Given the description of an element on the screen output the (x, y) to click on. 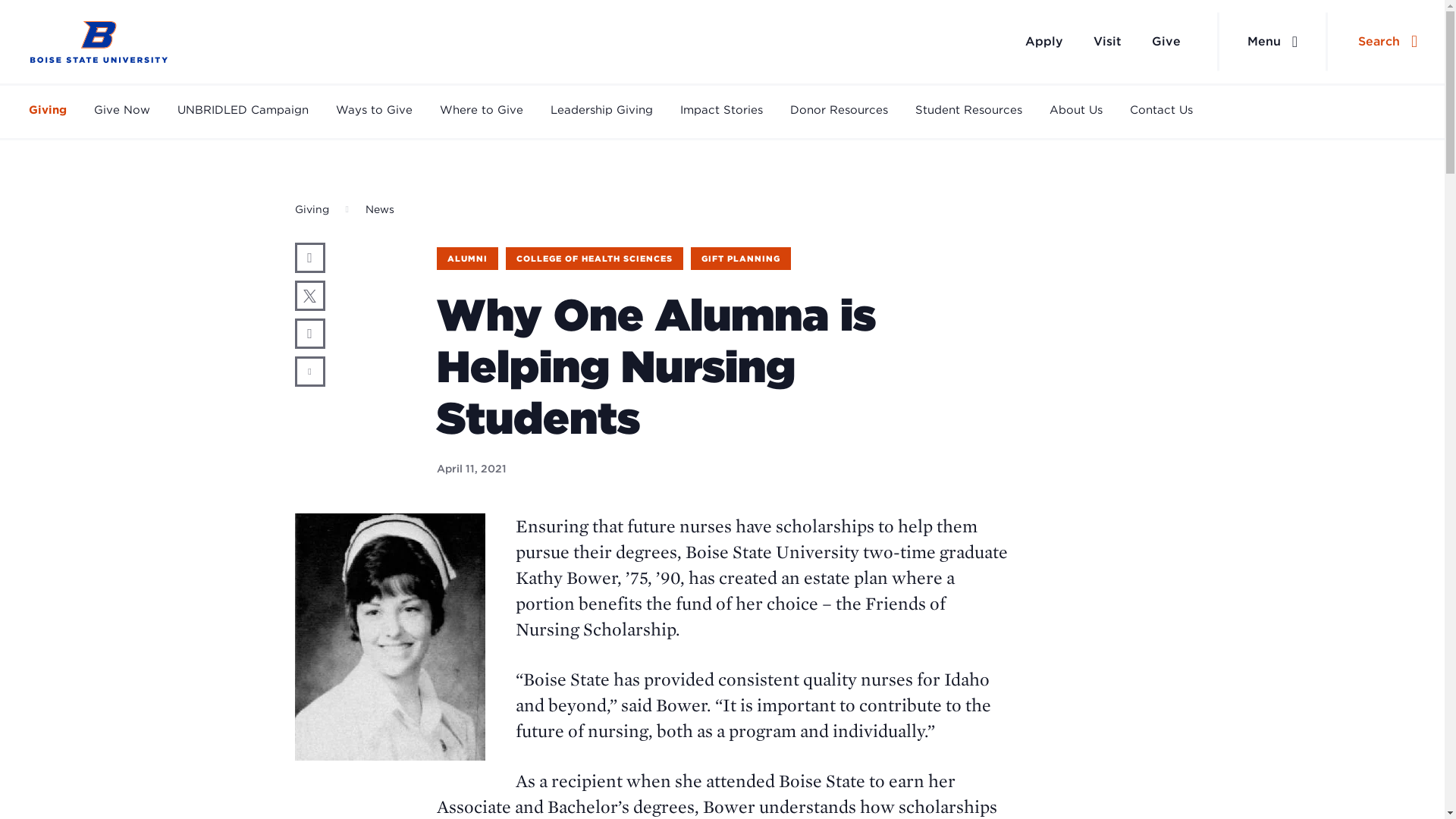
Share on Facebook (309, 257)
News (379, 209)
Share on Facebook (309, 257)
Give (1166, 41)
ALUMNI (466, 258)
Open (1413, 41)
Donor Resources (839, 110)
Share through Email (309, 371)
Apply (1044, 41)
Share on LinkedIn (309, 333)
Giving Home (98, 41)
About Us (1075, 110)
UNBRIDLED Campaign (242, 110)
Leadership Giving (601, 110)
Give Now (121, 110)
